Given the description of an element on the screen output the (x, y) to click on. 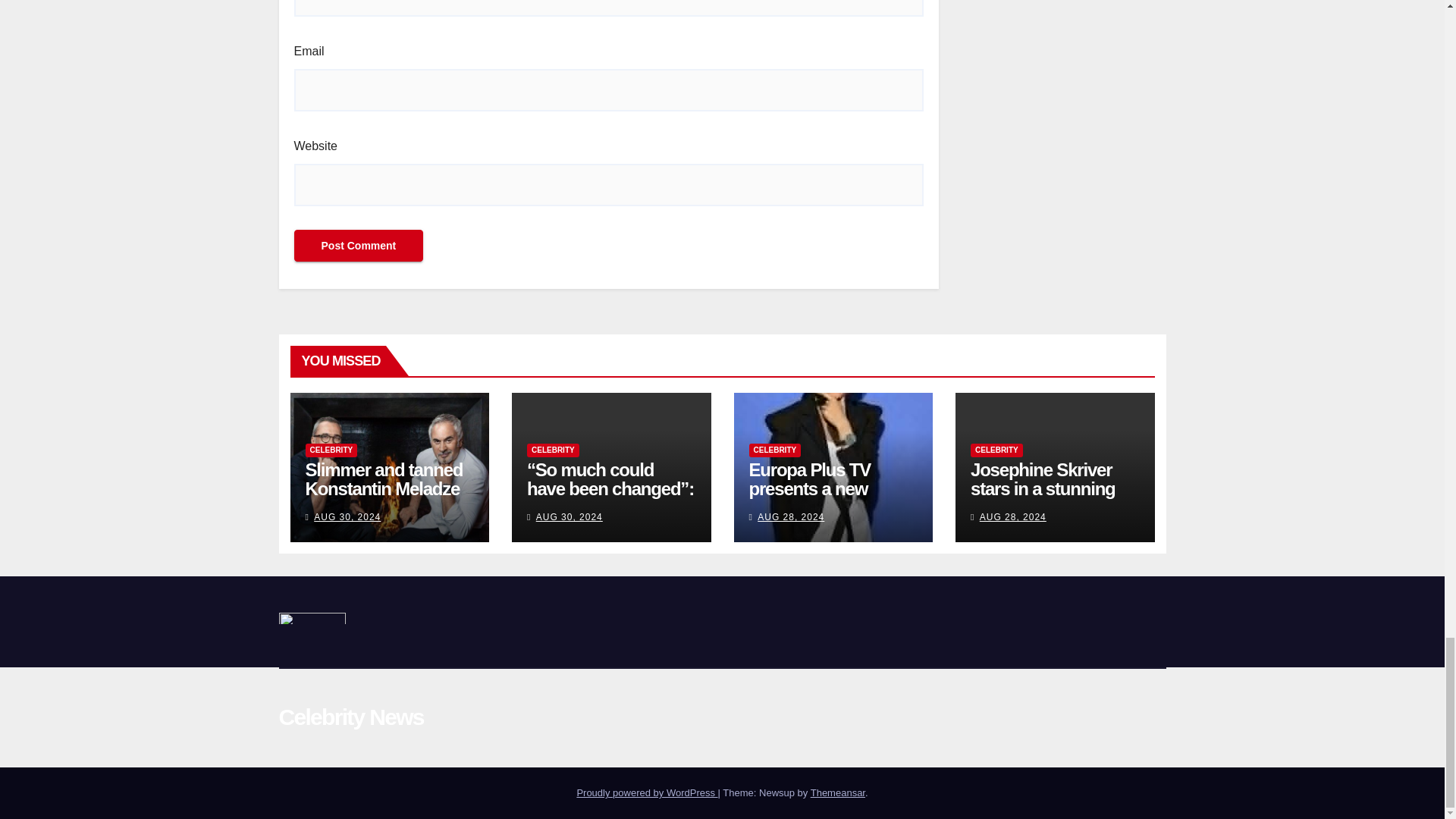
CELEBRITY (330, 450)
AUG 30, 2024 (347, 516)
Post Comment (358, 245)
Post Comment (358, 245)
CELEBRITY (553, 450)
